Given the description of an element on the screen output the (x, y) to click on. 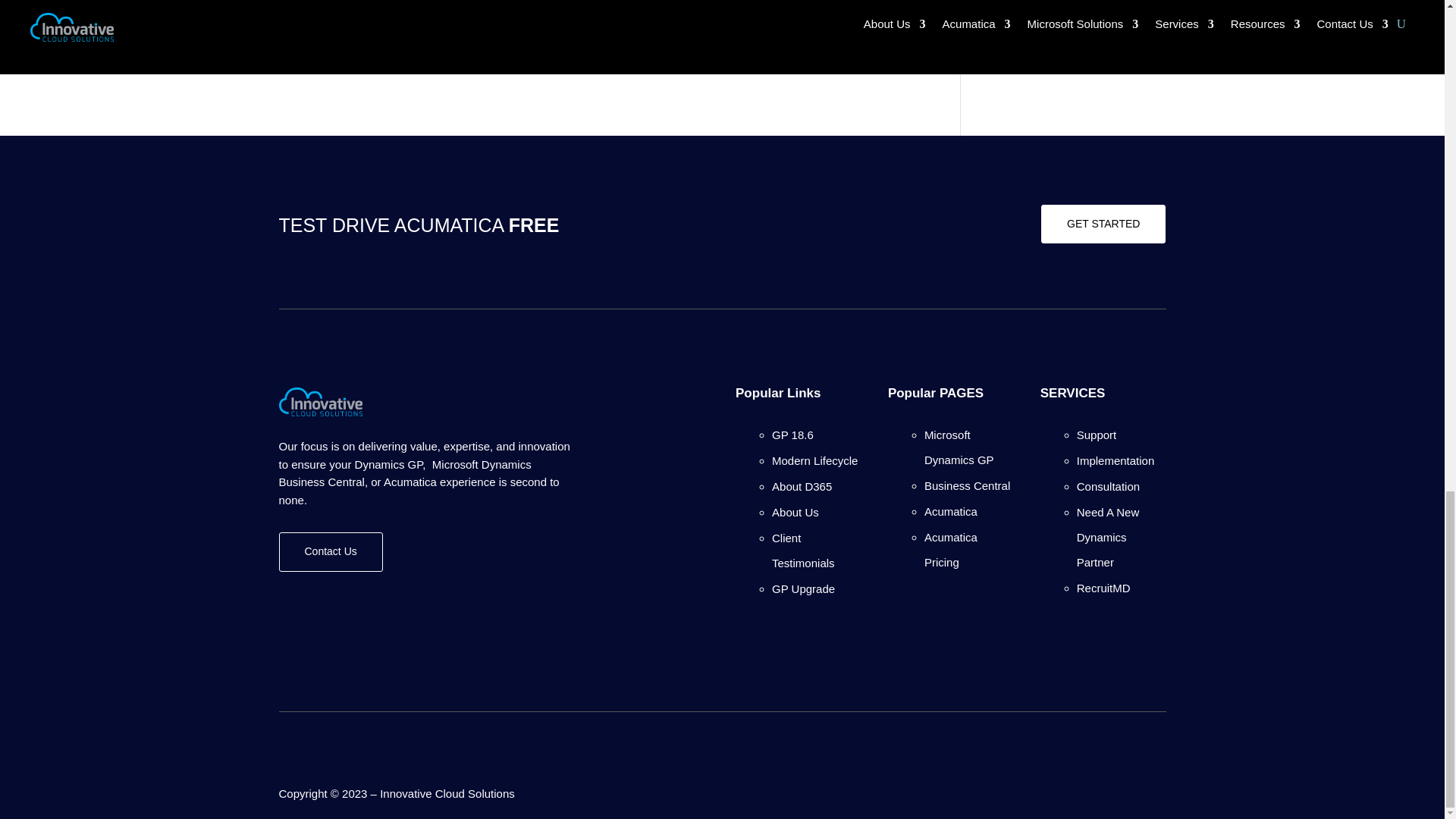
ICS Logo (320, 401)
